Given the description of an element on the screen output the (x, y) to click on. 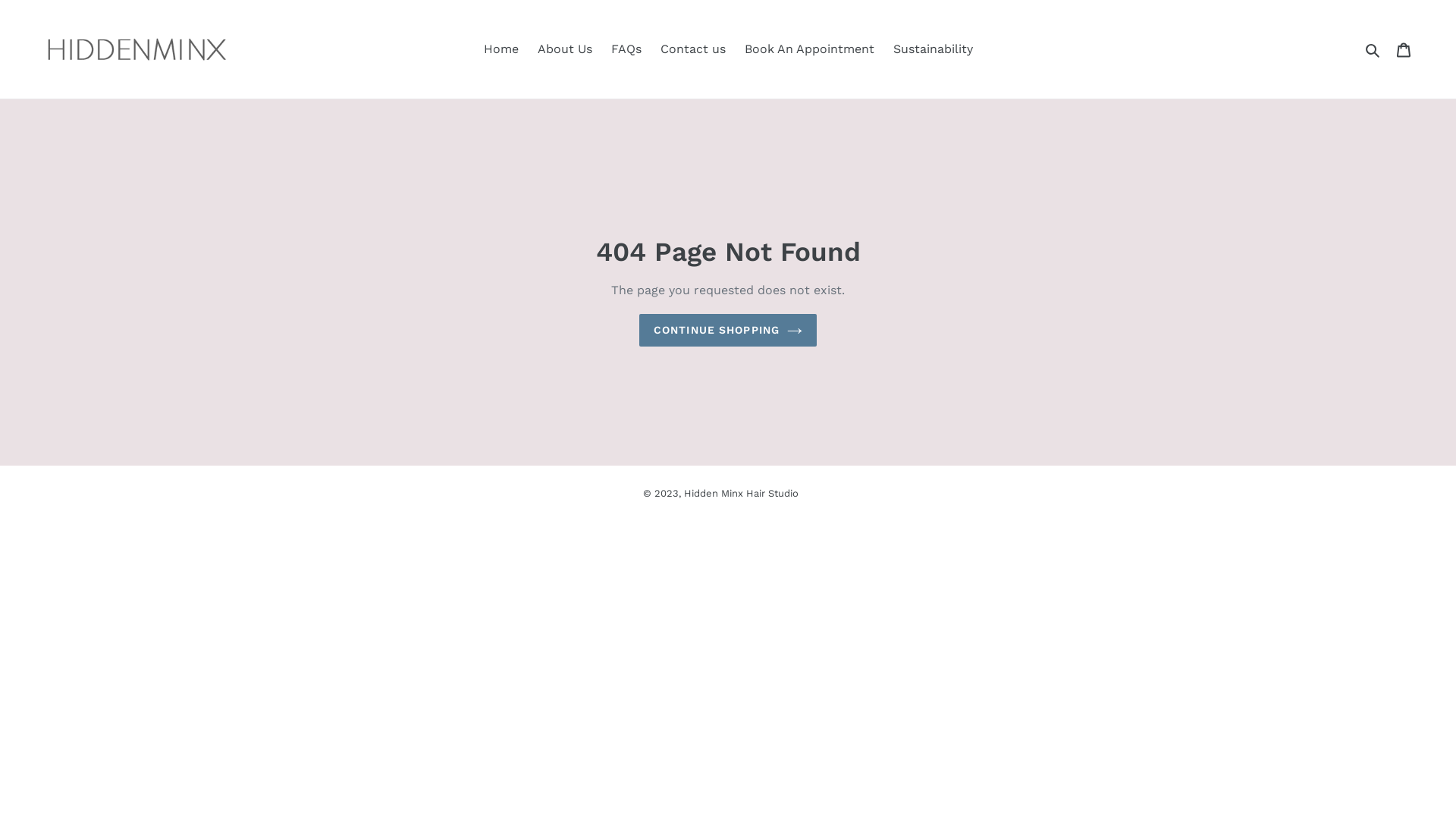
Cart Element type: text (1404, 49)
Sustainability Element type: text (932, 48)
Book An Appointment Element type: text (809, 48)
CONTINUE SHOPPING Element type: text (727, 329)
Home Element type: text (501, 48)
About Us Element type: text (564, 48)
Submit Element type: text (1373, 48)
Contact us Element type: text (692, 48)
FAQs Element type: text (626, 48)
